Given the description of an element on the screen output the (x, y) to click on. 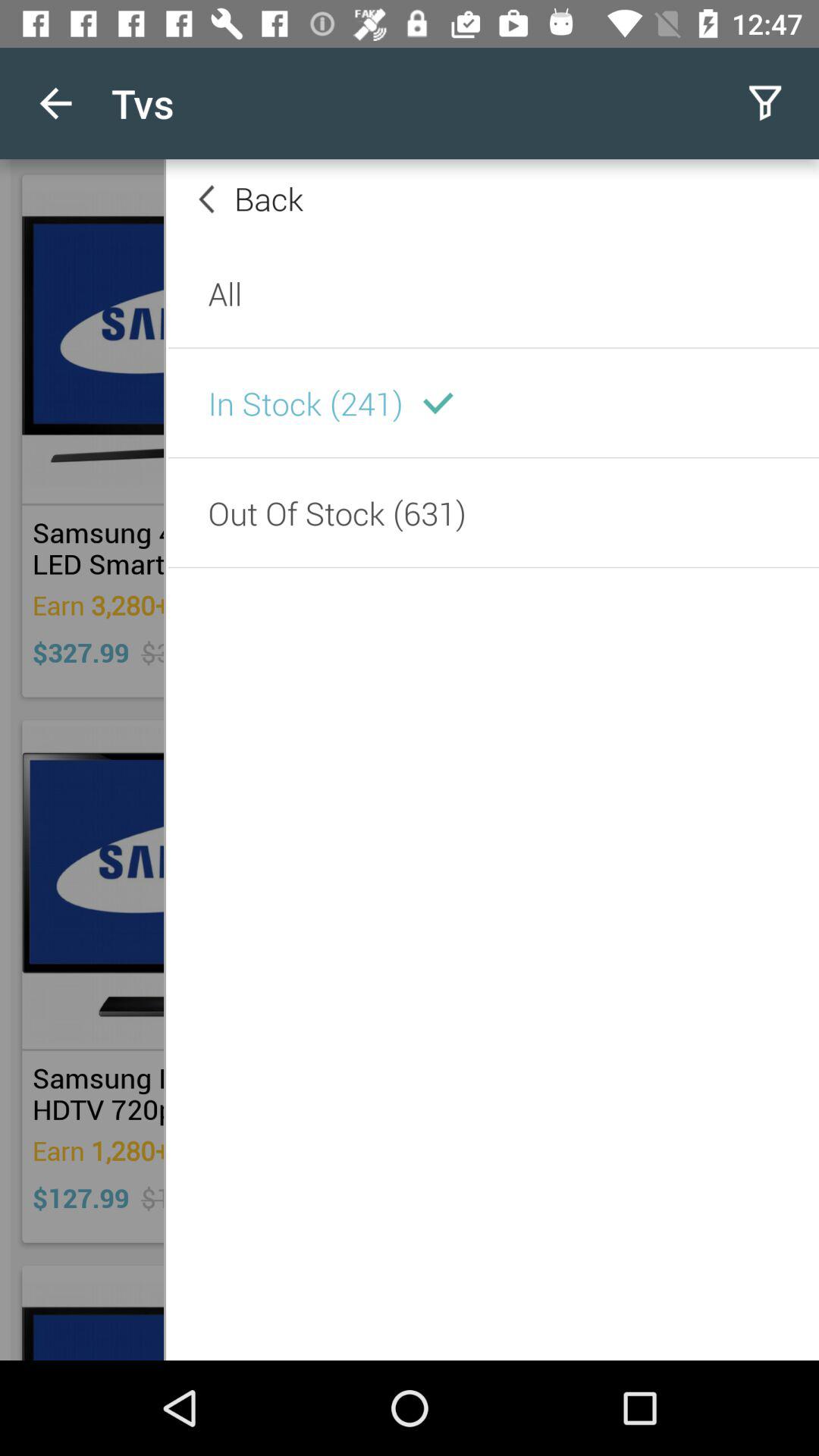
select the text which is below in stock 241 (491, 542)
